Given the description of an element on the screen output the (x, y) to click on. 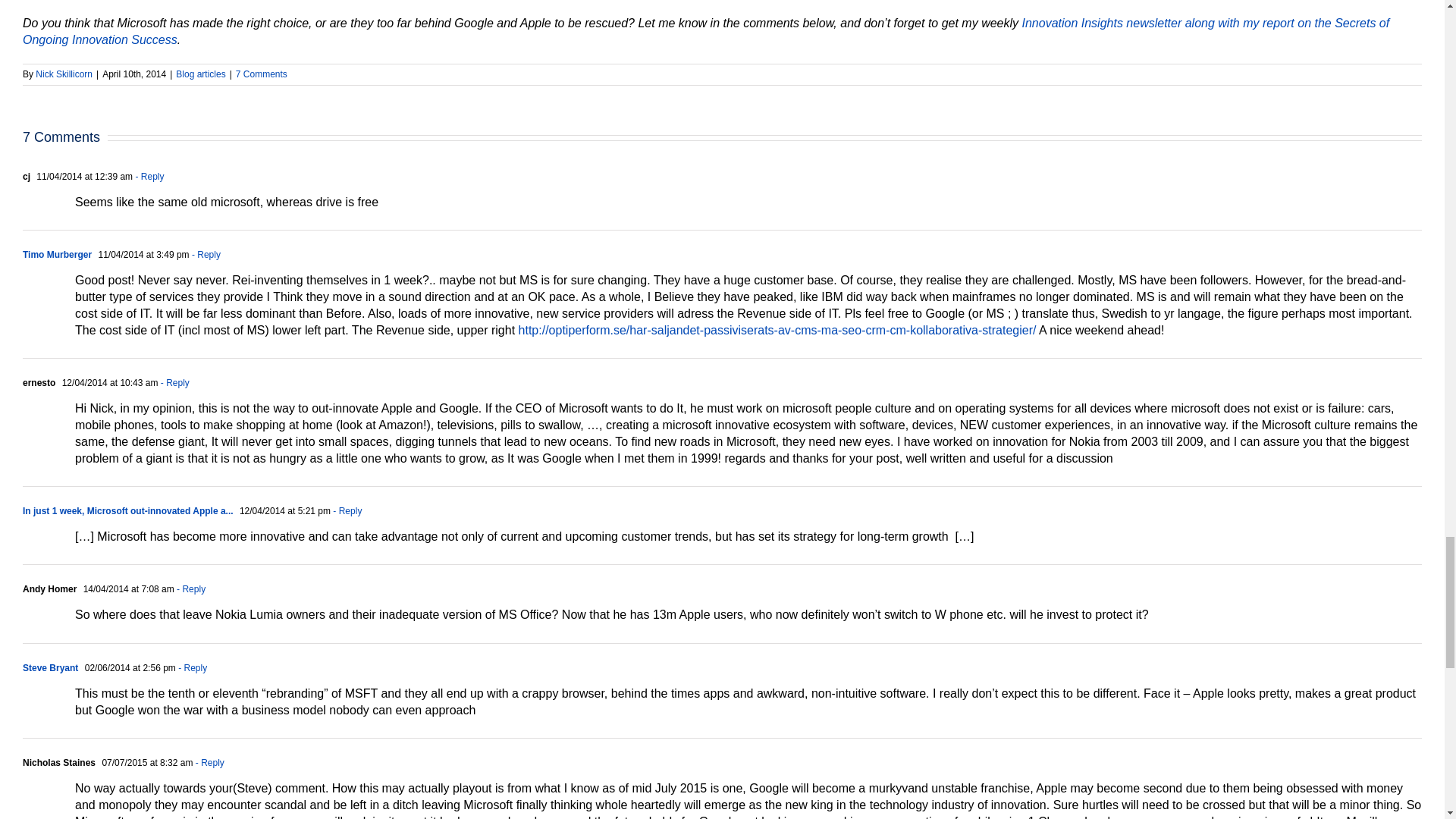
Blog articles (200, 73)
- Reply (189, 588)
In just 1 week, Microsoft out-innovated Apple a... (127, 511)
- Reply (205, 254)
Posts by Nick Skillicorn (63, 73)
7 Comments (260, 73)
- Reply (173, 382)
Nick Skillicorn (63, 73)
Steve Bryant (50, 667)
